Given the description of an element on the screen output the (x, y) to click on. 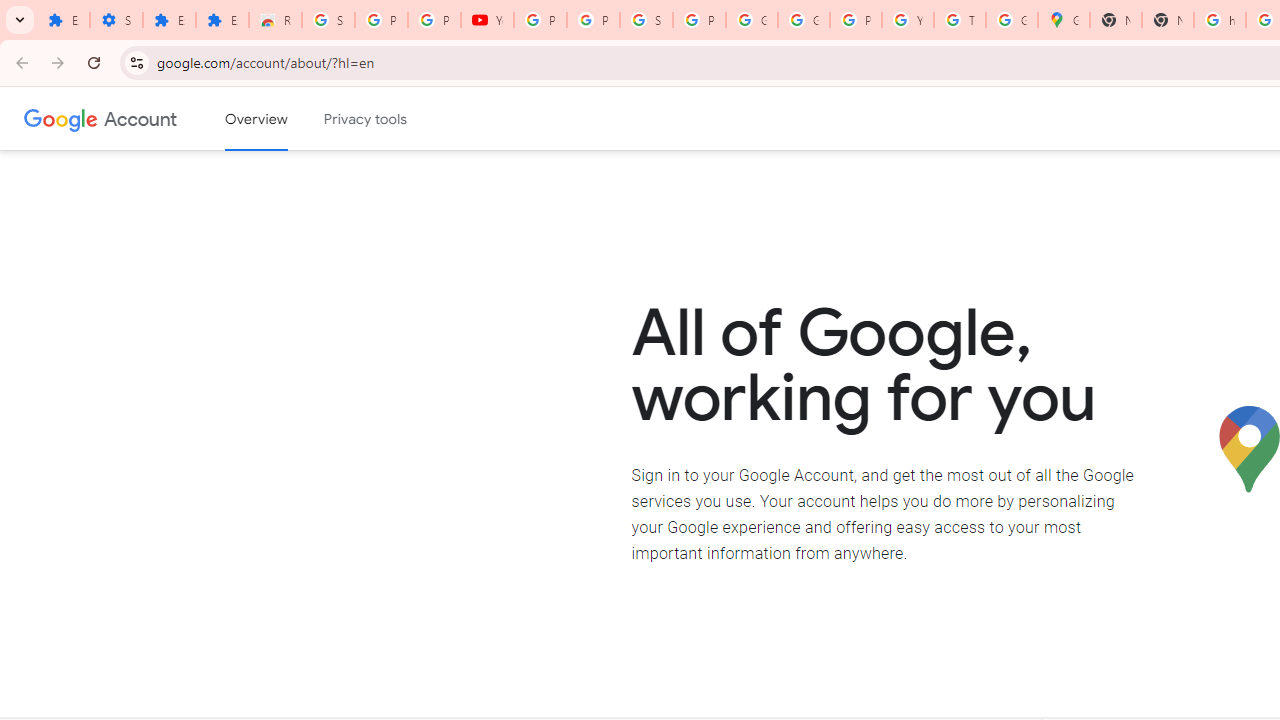
Reviews: Helix Fruit Jump Arcade Game (275, 20)
New Tab (1115, 20)
Skip to Content (285, 115)
Extensions (169, 20)
Google logo (61, 118)
Sign in - Google Accounts (646, 20)
